Given the description of an element on the screen output the (x, y) to click on. 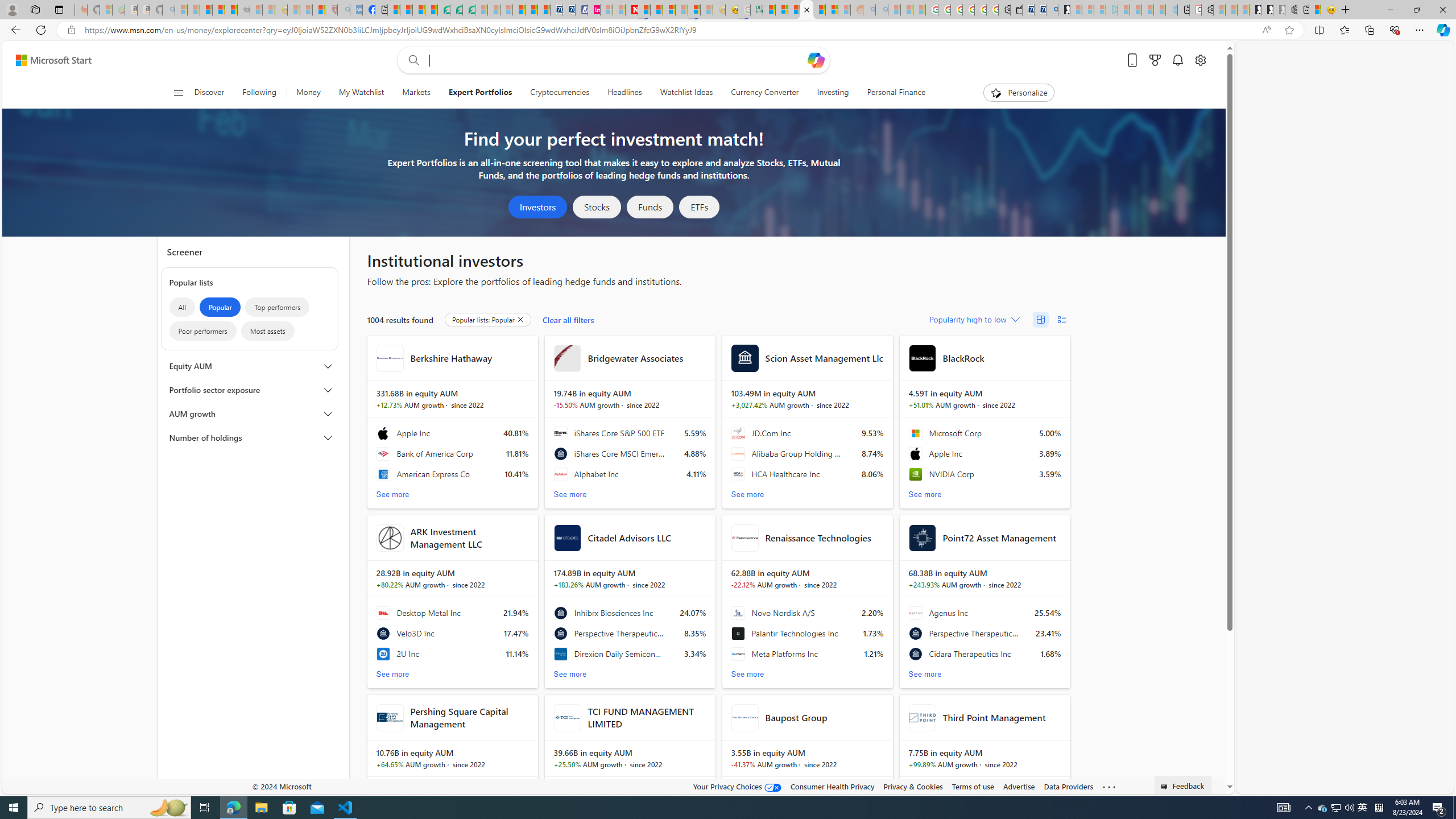
Investing (832, 92)
Kinda Frugal - MSN (818, 9)
Markets (415, 92)
Cryptocurrencies (559, 92)
Currency Converter (764, 92)
